Given the description of an element on the screen output the (x, y) to click on. 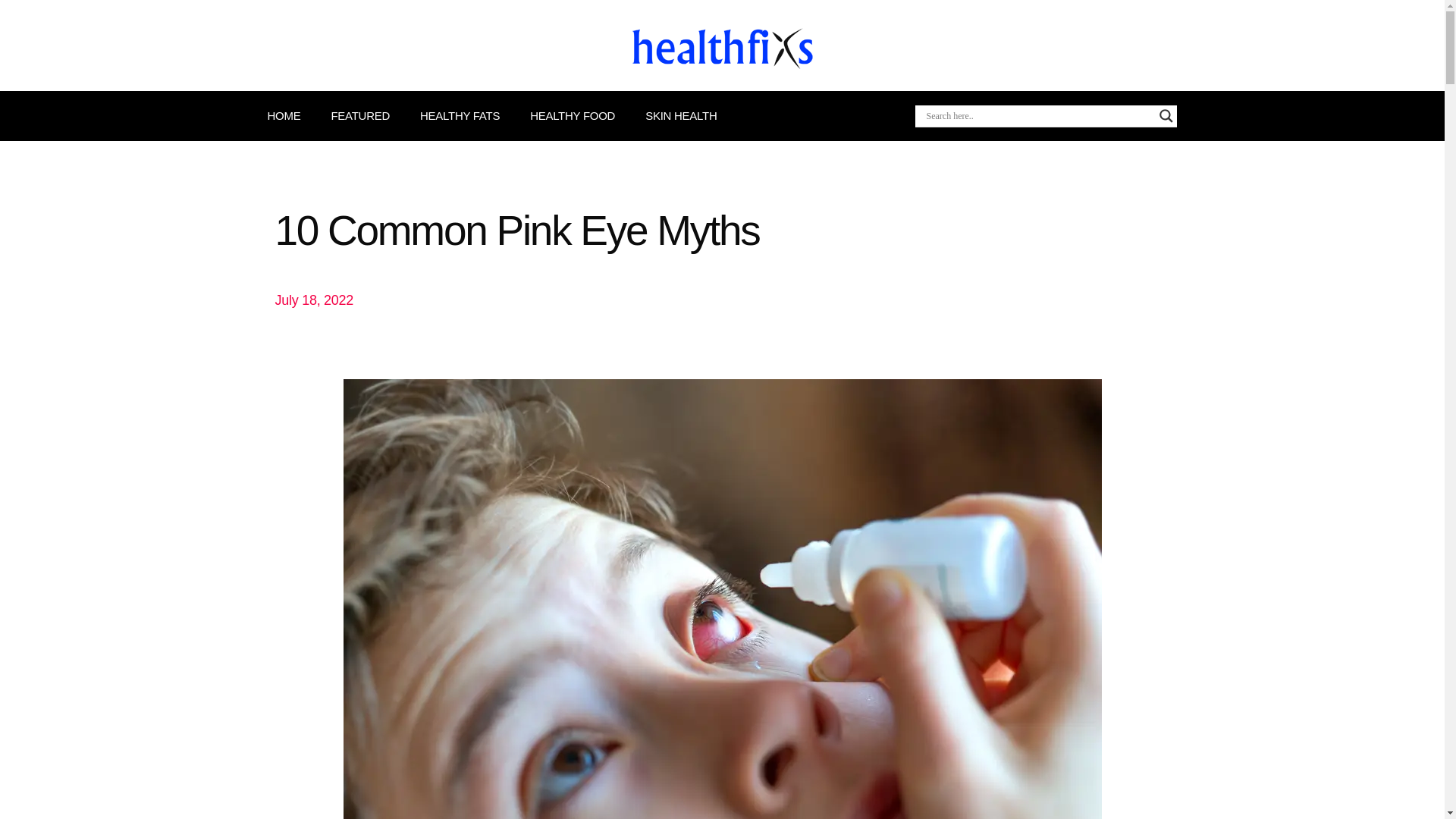
July 18, 2022 (314, 300)
HOME (282, 115)
SKIN HEALTH (680, 115)
HEALTHY FATS (459, 115)
FEATURED (360, 115)
HEALTHY FOOD (571, 115)
